Given the description of an element on the screen output the (x, y) to click on. 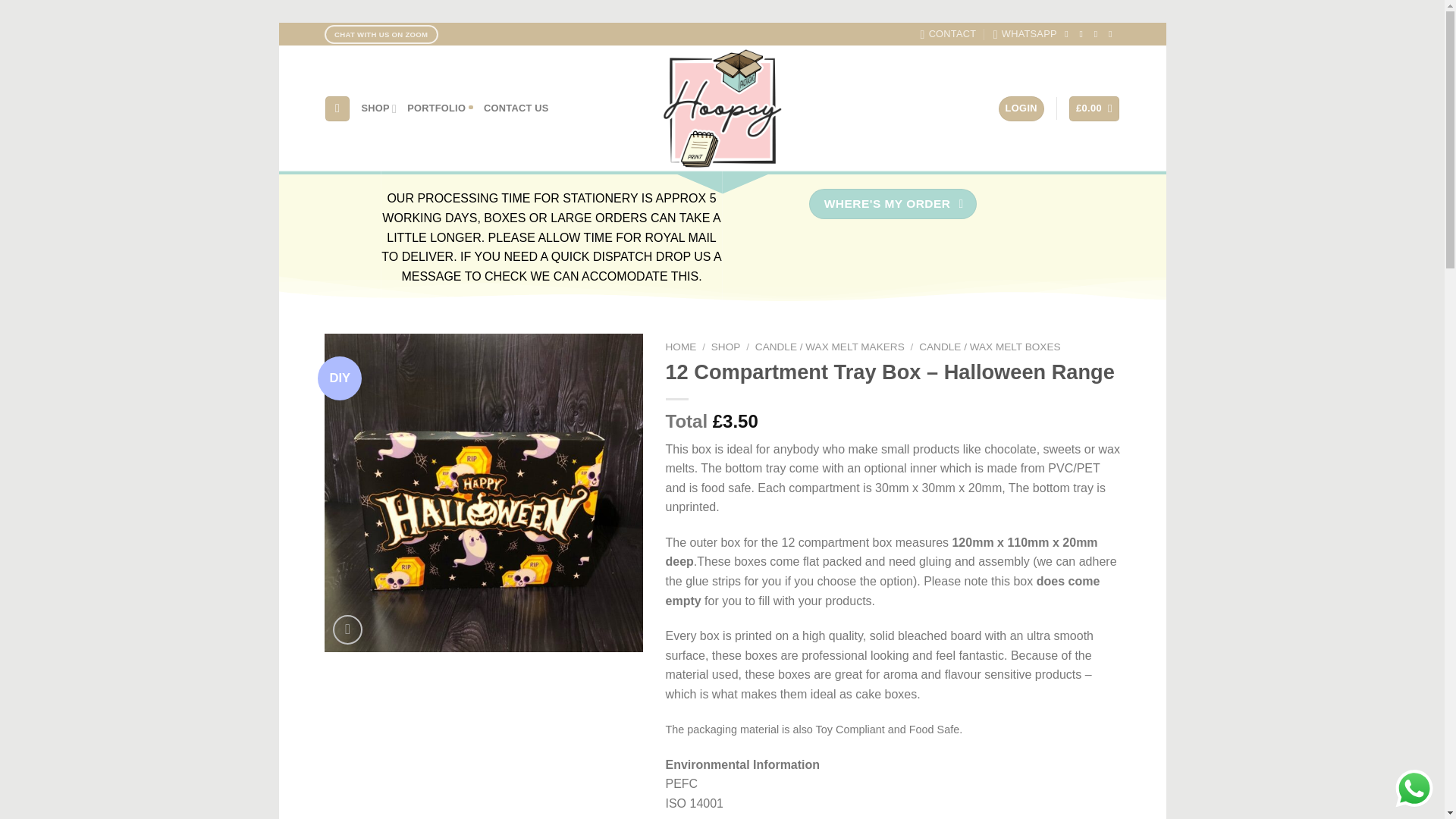
CHAT WITH US ON ZOOM (381, 34)
Hoopsy - Personalised and quality products (722, 108)
SHOP (379, 108)
